Given the description of an element on the screen output the (x, y) to click on. 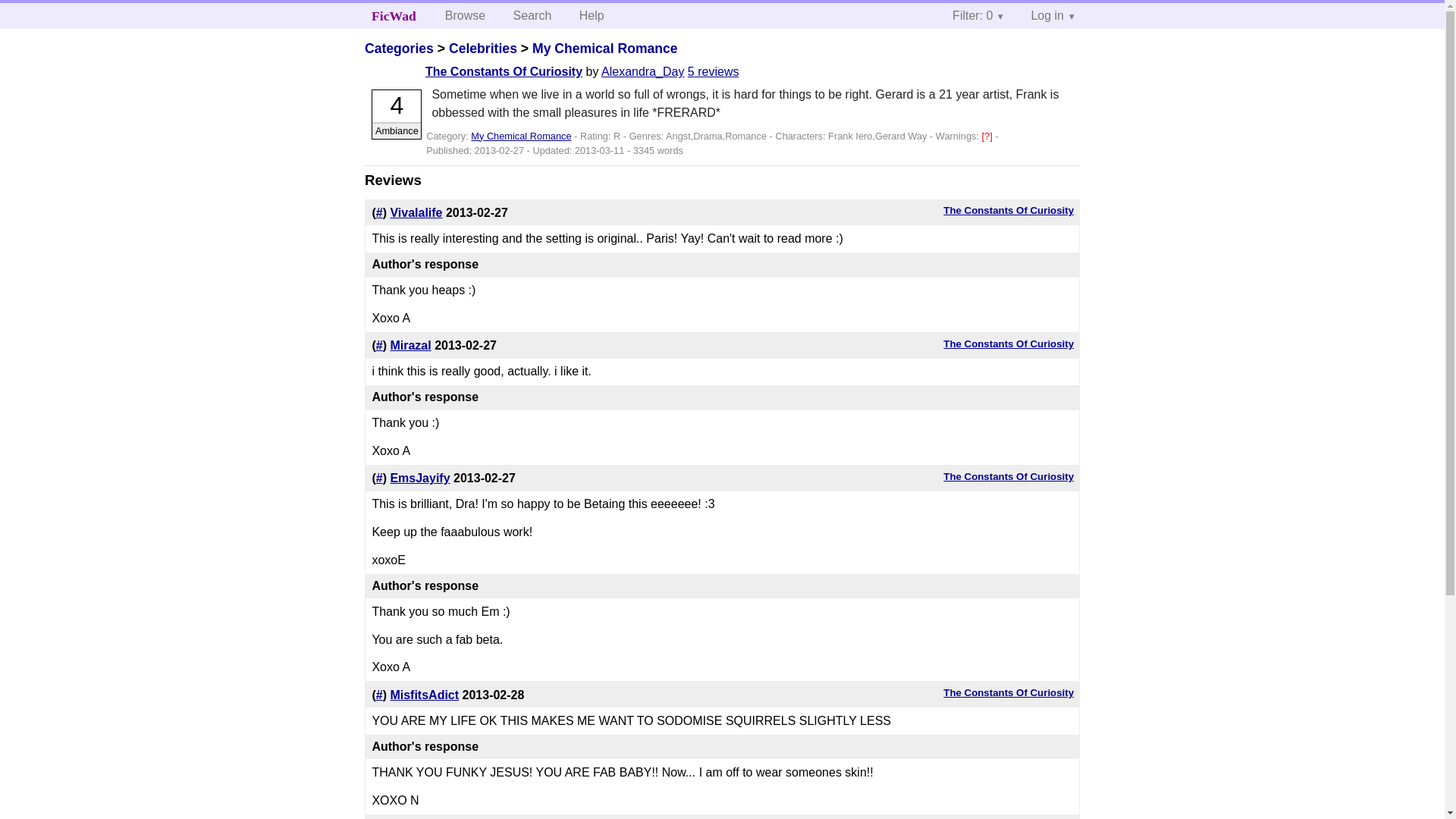
My Chemical Romance (520, 135)
Help (591, 15)
The Constants Of Curiosity (1008, 343)
Filter: 0 (977, 15)
My Chemical Romance (605, 48)
Categories (399, 48)
2013-02-28 04:45:41 (493, 694)
The Constants Of Curiosity (1008, 210)
2013-02-27 16:44:51 (476, 212)
FicWad (393, 15)
Search (532, 15)
Alternate Universe (988, 135)
fresh-picked original and fan fiction (393, 15)
The Constants Of Curiosity (1008, 476)
2013-02-27 21:25:23 (483, 477)
